Given the description of an element on the screen output the (x, y) to click on. 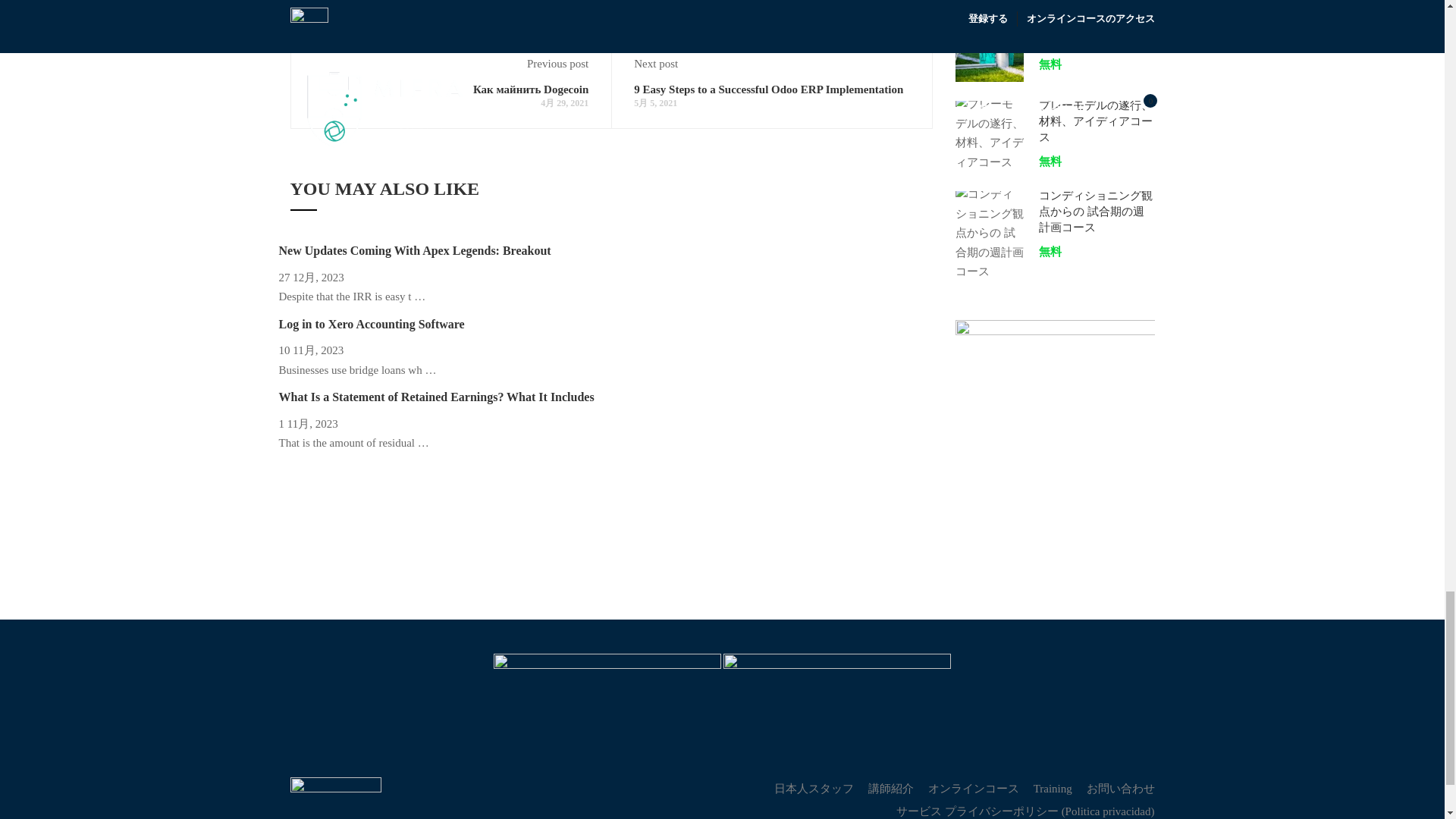
Log in to Xero Accounting Software (371, 323)
What Is a Statement of Retained Earnings? What It Includes (436, 396)
9 Easy Steps to a Successful Odoo ERP Implementation (767, 89)
New Updates Coming With Apex Legends: Breakout (415, 250)
